Given the description of an element on the screen output the (x, y) to click on. 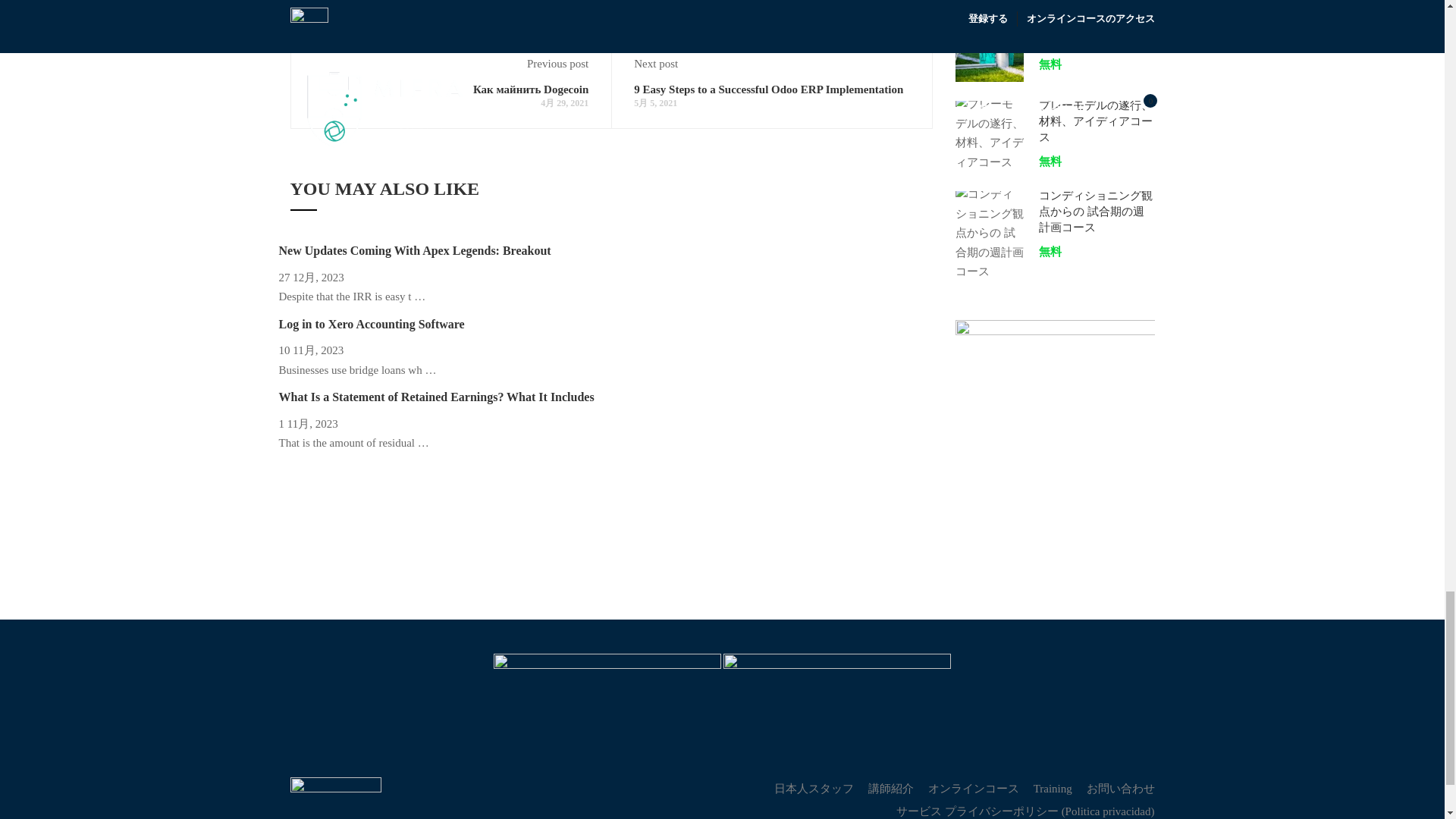
Log in to Xero Accounting Software (371, 323)
What Is a Statement of Retained Earnings? What It Includes (436, 396)
9 Easy Steps to a Successful Odoo ERP Implementation (767, 89)
New Updates Coming With Apex Legends: Breakout (415, 250)
